Given the description of an element on the screen output the (x, y) to click on. 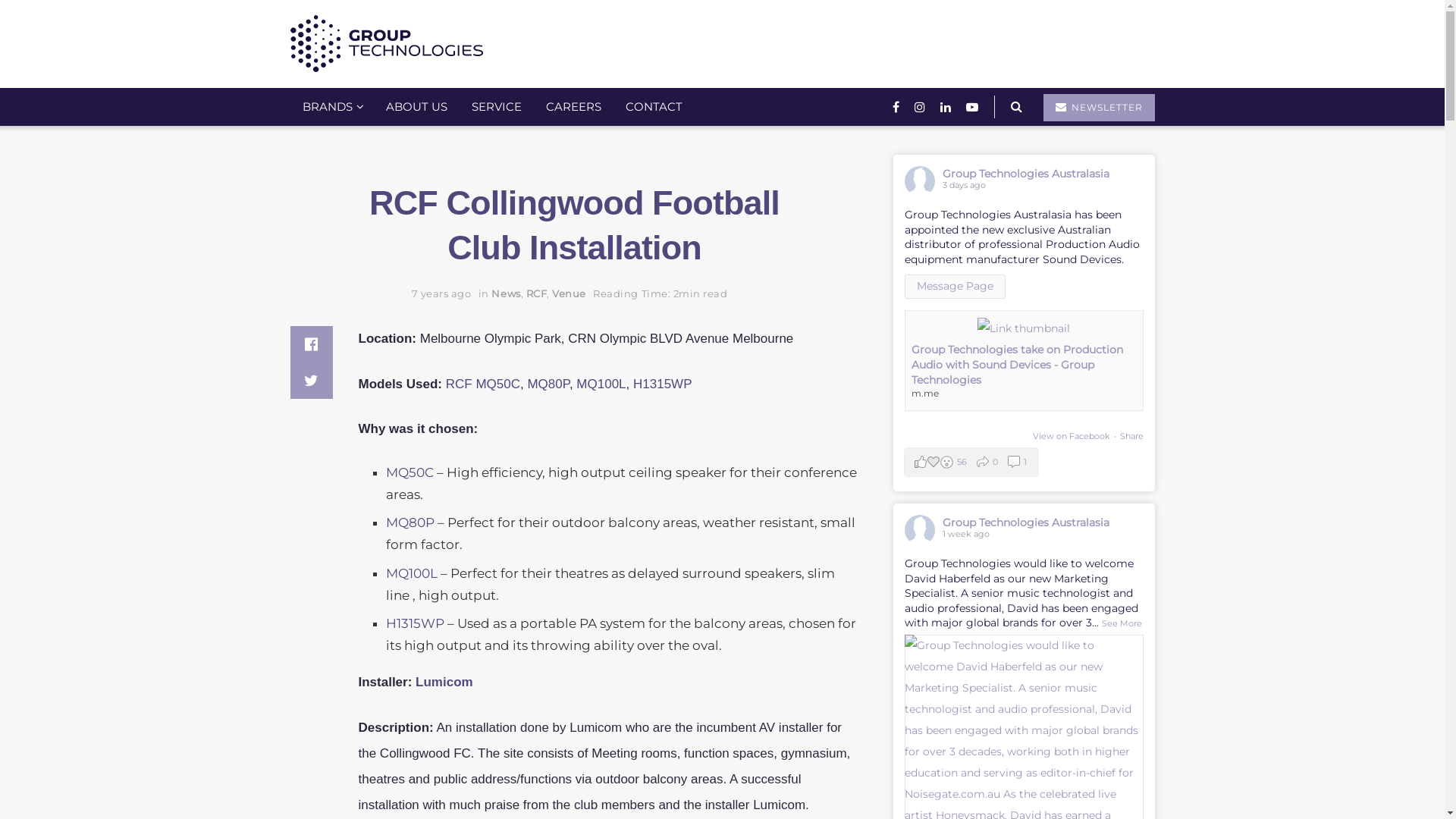
Share Element type: text (1130, 435)
News Element type: text (505, 293)
View on Facebook Element type: text (1071, 435)
ABOUT US Element type: text (415, 106)
RCF MQ50C Element type: text (482, 383)
Venue Element type: text (569, 293)
MQ50C Element type: text (409, 471)
NEWSLETTER Element type: text (1098, 107)
MQ80P Element type: text (409, 522)
BRANDS Element type: text (331, 106)
MQ100L Element type: text (411, 572)
Lumicom Element type: text (444, 681)
7 years ago Element type: text (441, 293)
MQ100L Element type: text (600, 383)
See More Element type: text (1121, 623)
H1315WP Element type: text (414, 622)
SERVICE Element type: text (496, 106)
Group Technologies Australasia Element type: text (1024, 522)
CONTACT Element type: text (652, 106)
Likes:
56
Shares:
0
Comments:
1 Element type: text (970, 462)
Group Technologies Australasia Element type: text (1024, 173)
Message Page Element type: text (953, 286)
CAREERS Element type: text (573, 106)
H1315WP Element type: text (662, 383)
RCF Element type: text (536, 293)
MQ80P Element type: text (547, 383)
